Given the description of an element on the screen output the (x, y) to click on. 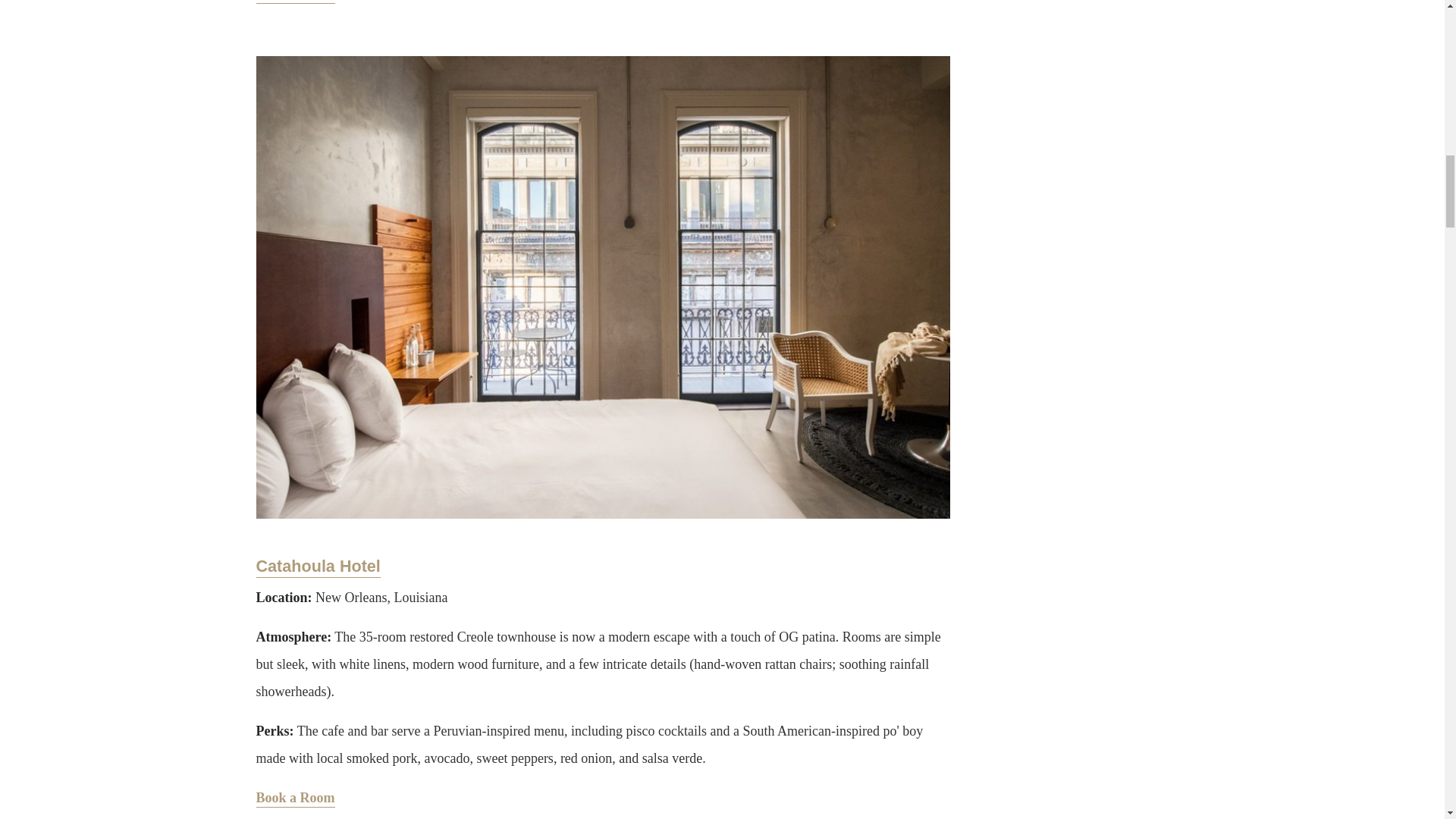
Catahoula Hotel (318, 567)
Catahoula Hotel (318, 567)
Book a Room (295, 2)
Book a Room (295, 798)
Book Henry Howard Hotel (295, 2)
Book Catahoula Hotel (295, 798)
